Given the description of an element on the screen output the (x, y) to click on. 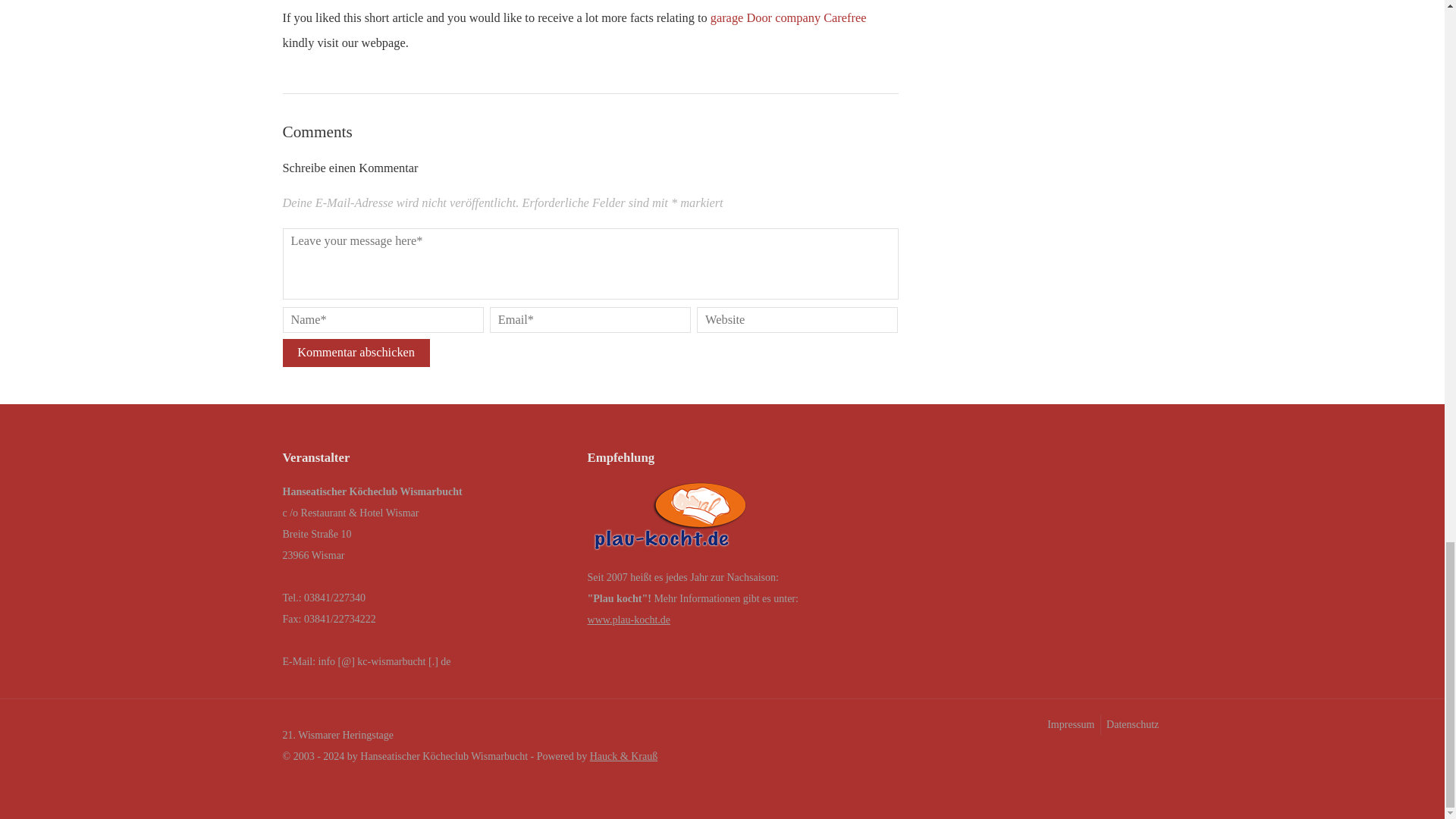
Twitter (1149, 758)
plau-kocht-logo (671, 520)
Kommentar abschicken (355, 353)
Datenschutz (1130, 724)
Kommentar abschicken (355, 353)
Facebook (1120, 758)
Impressum (1069, 724)
garage Door company Carefree (788, 17)
www.plau-kocht.de (629, 619)
